Given the description of an element on the screen output the (x, y) to click on. 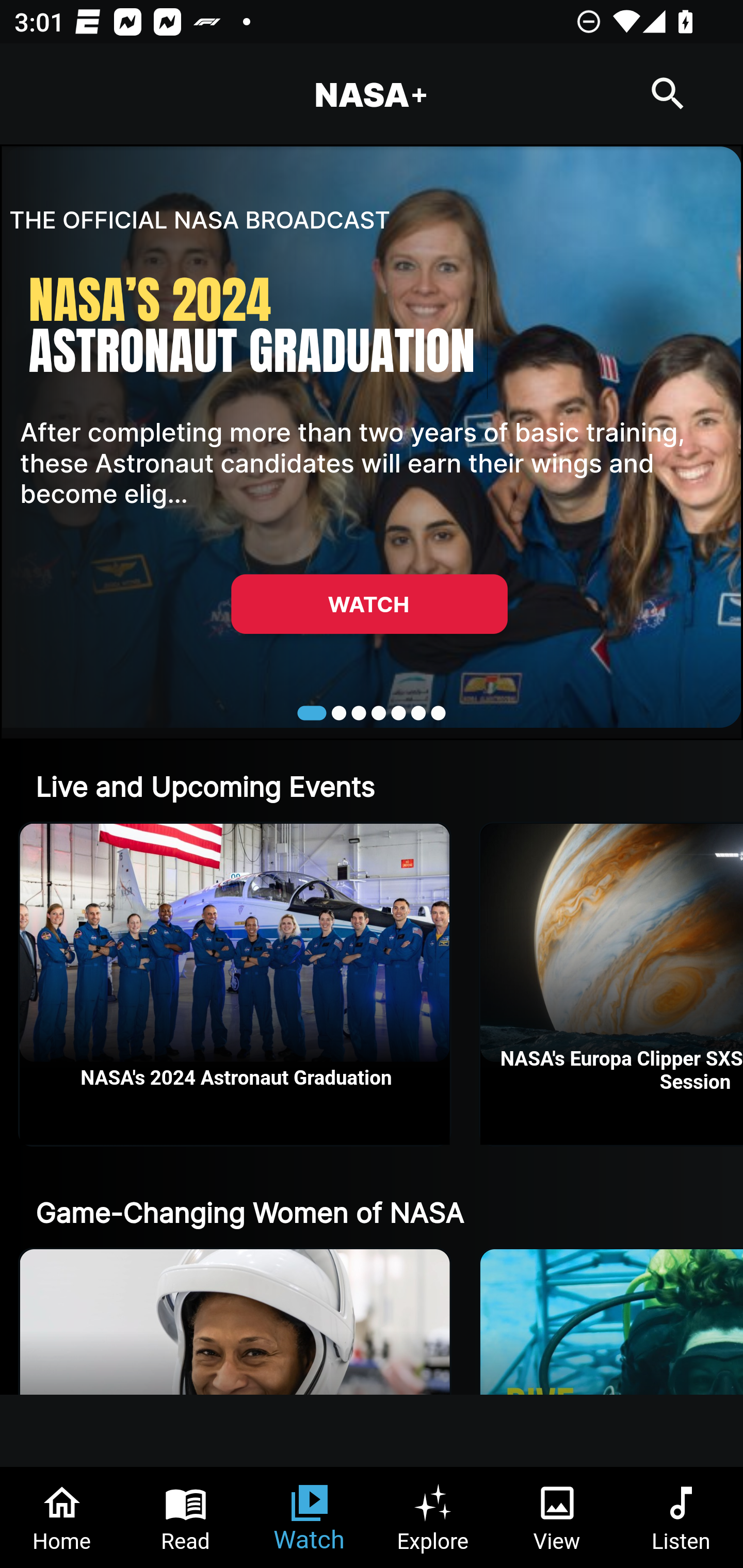
WATCH (369, 603)
NASA's 2024 Astronaut Graduation (235, 983)
NASA's Europa Clipper SXSW 2024 Opening Session (611, 983)
Home
Tab 1 of 6 (62, 1517)
Read
Tab 2 of 6 (185, 1517)
Watch
Tab 3 of 6 (309, 1517)
Explore
Tab 4 of 6 (433, 1517)
View
Tab 5 of 6 (556, 1517)
Listen
Tab 6 of 6 (680, 1517)
